Given the description of an element on the screen output the (x, y) to click on. 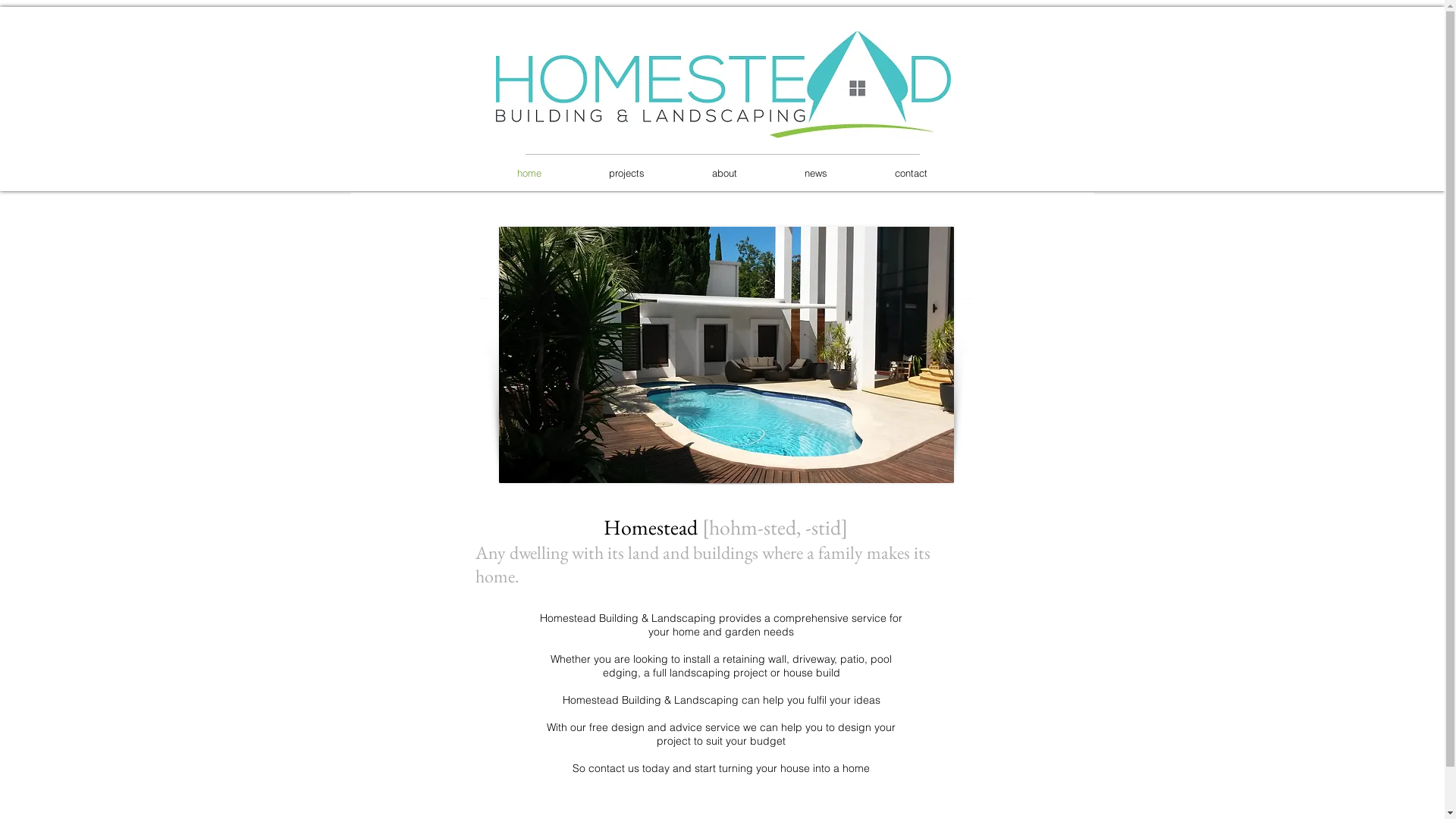
home Element type: text (529, 173)
contact Element type: text (911, 173)
about Element type: text (723, 173)
news Element type: text (815, 173)
projects Element type: text (625, 173)
